Given the description of an element on the screen output the (x, y) to click on. 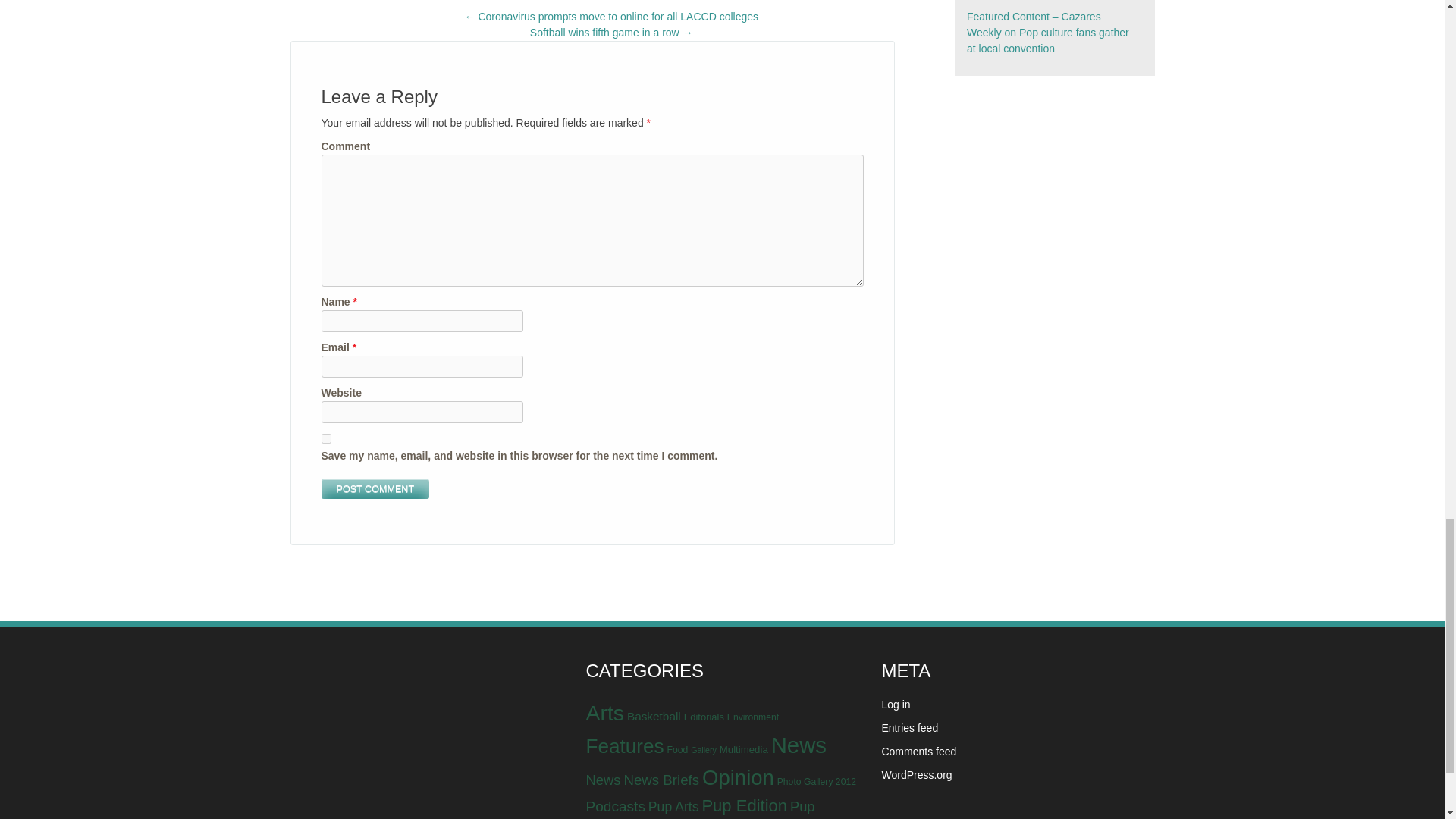
Post Comment (375, 489)
Post Comment (375, 489)
yes (326, 438)
